Given the description of an element on the screen output the (x, y) to click on. 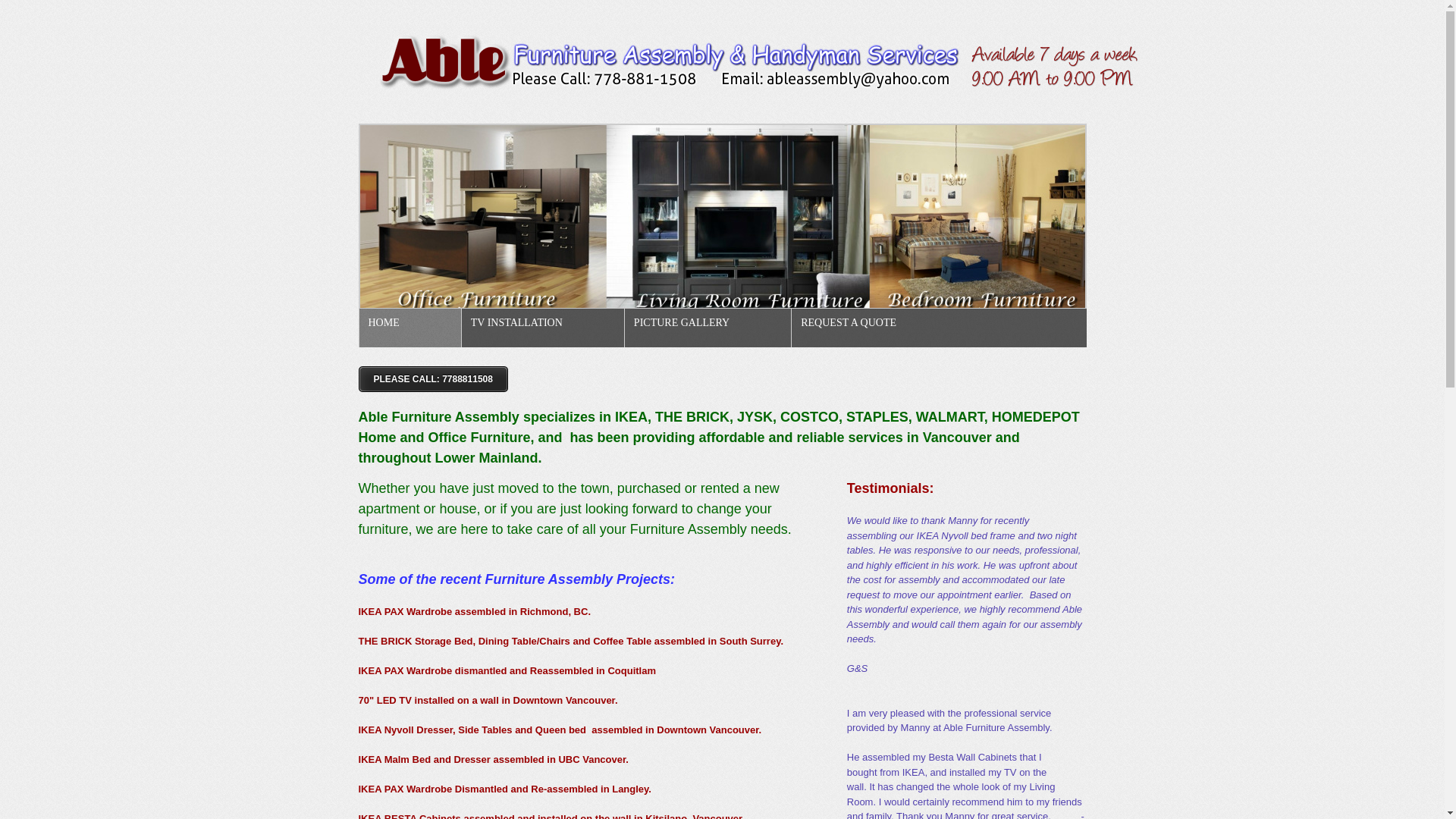
PICTURE GALLERY Element type: text (707, 327)
HOME Element type: text (408, 327)
TV INSTALLATION Element type: text (542, 327)
REQUEST A QUOTE Element type: text (873, 327)
PLEASE CALL: 7788811508 Element type: text (432, 379)
